Given the description of an element on the screen output the (x, y) to click on. 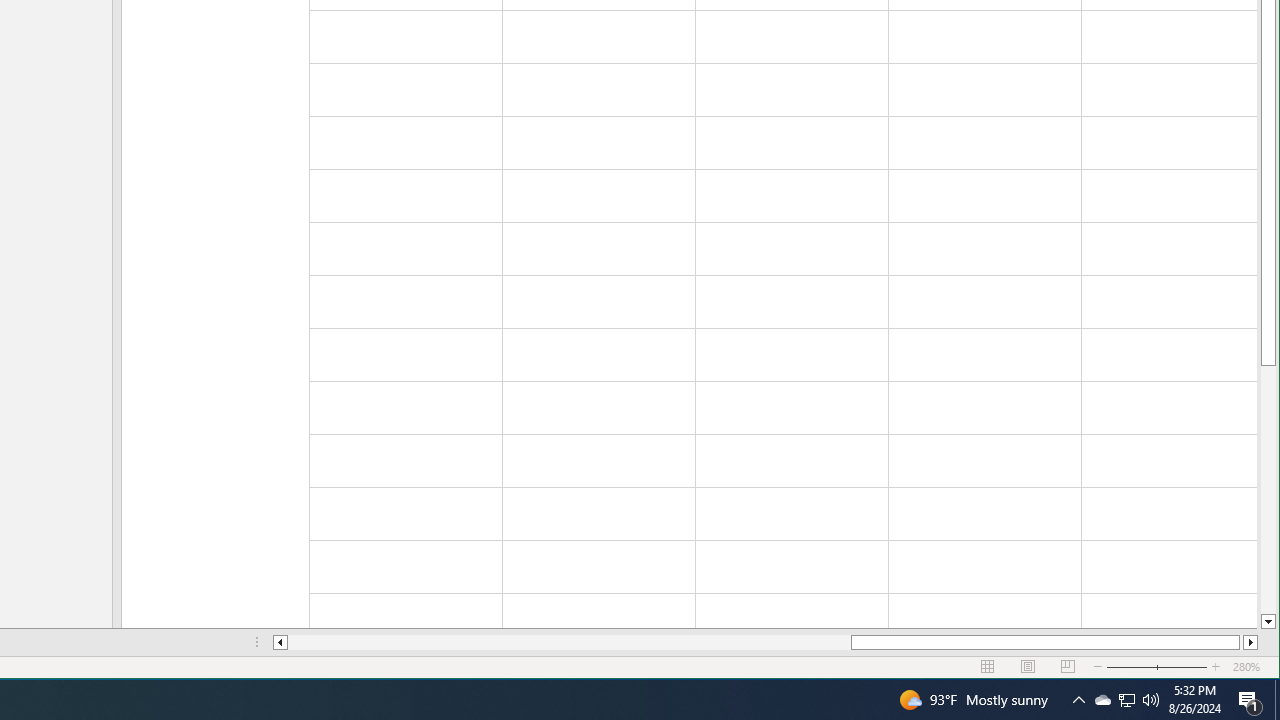
Show desktop (1277, 699)
Notification Chevron (1078, 699)
